Given the description of an element on the screen output the (x, y) to click on. 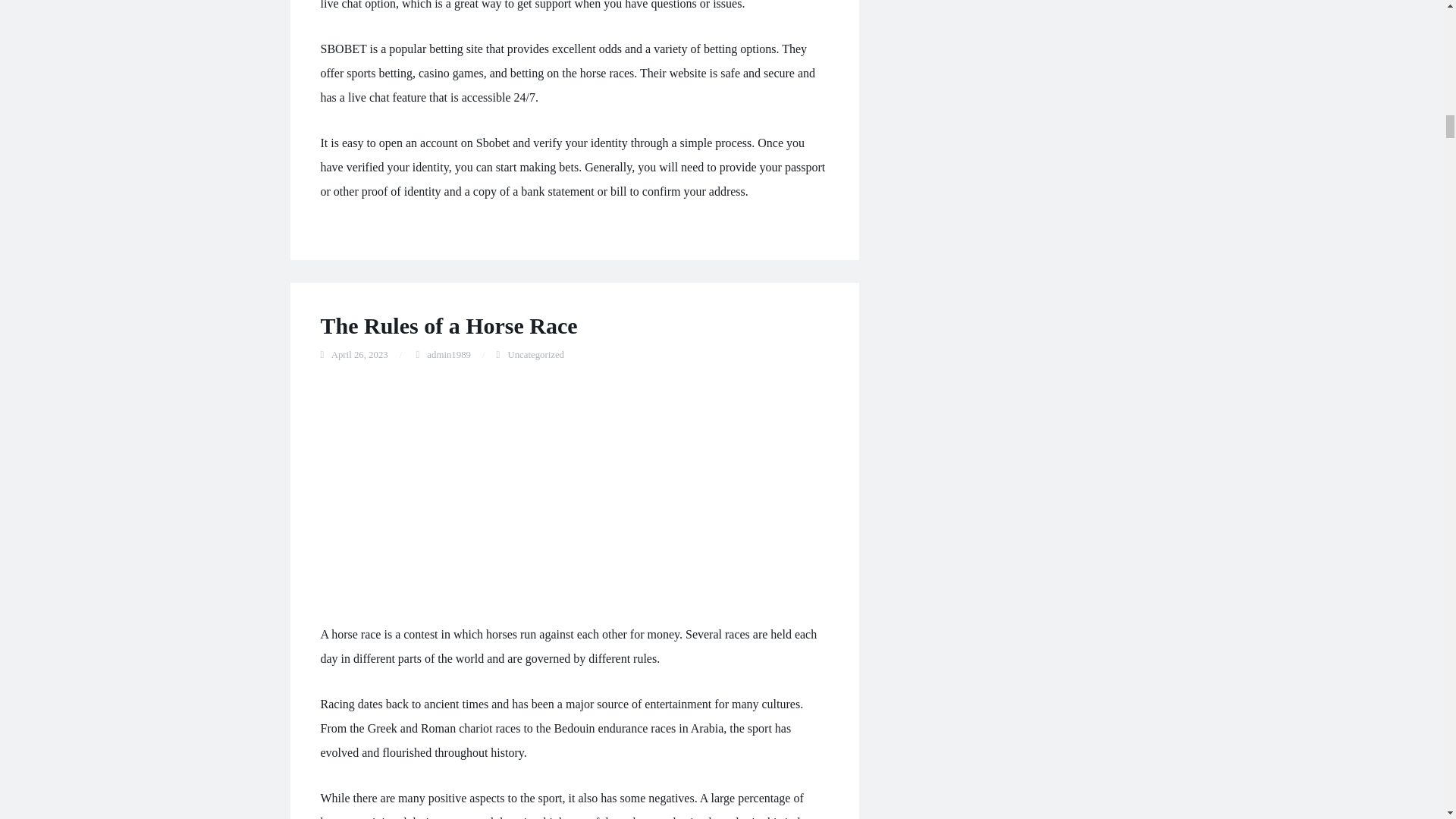
Uncategorized (535, 354)
April 26, 2023 (359, 354)
The Rules of a Horse Race (448, 325)
admin1989 (448, 354)
